Given the description of an element on the screen output the (x, y) to click on. 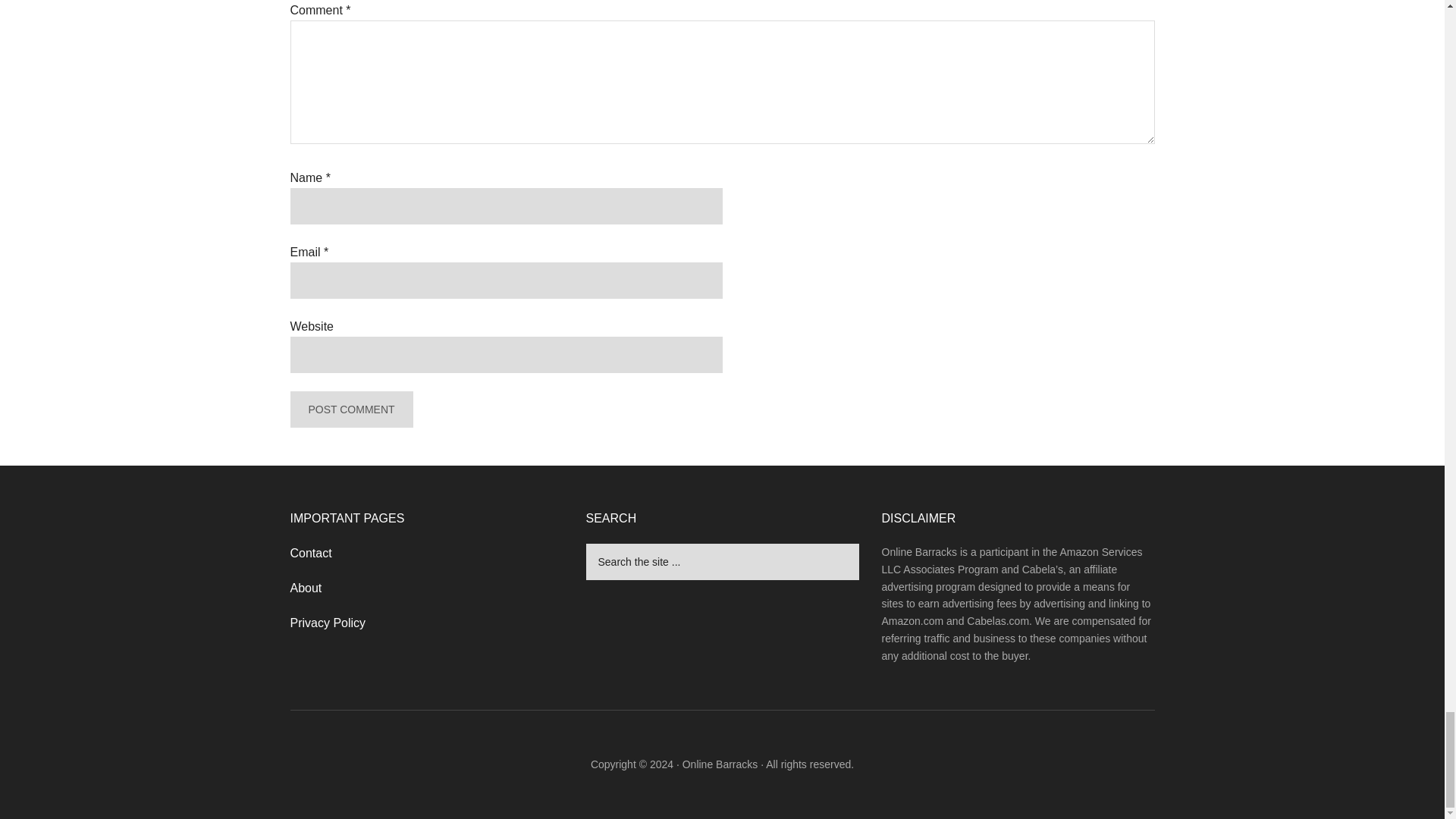
Post Comment (350, 409)
